Given the description of an element on the screen output the (x, y) to click on. 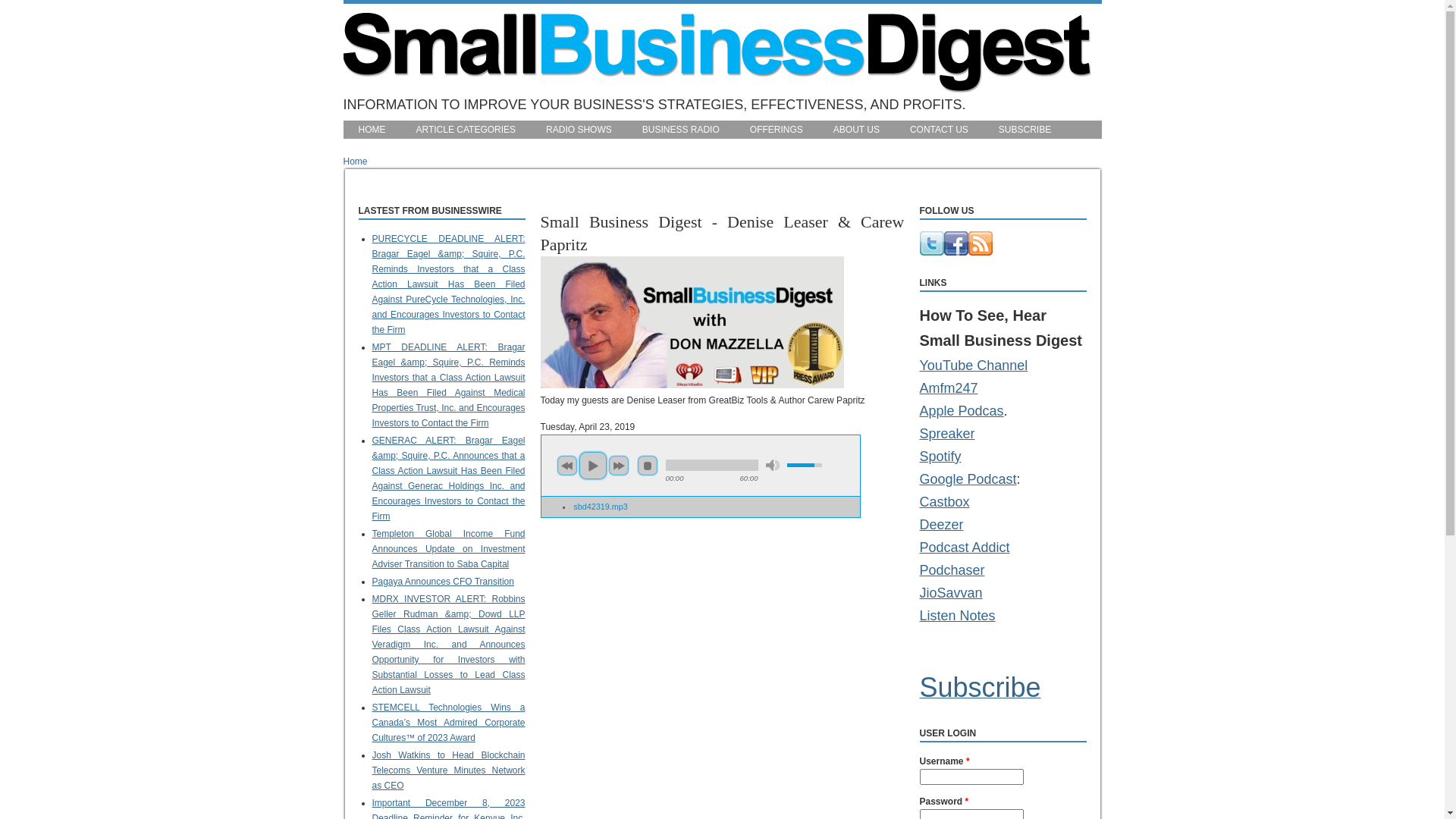
Home Element type: text (354, 161)
Pagaya Announces CFO Transition Element type: text (442, 581)
CONTACT US Element type: text (938, 129)
next Element type: text (618, 465)
Visit 2SBDigest on Twitter Element type: hover (931, 252)
Subscribe to  via RSS Element type: hover (979, 252)
Amfm247 Element type: text (948, 387)
stop Element type: text (647, 465)
Podcast Addict Element type: text (964, 558)
Subscribe Element type: text (979, 693)
Apple Podcas Element type: text (961, 422)
Home Element type: hover (716, 88)
JioSavvan Element type: text (951, 604)
HOME Element type: text (371, 129)
ARTICLE CATEGORIES Element type: text (465, 129)
Visit 2sbdigest on Facebook Element type: hover (955, 252)
mute Element type: text (772, 464)
RADIO SHOWS Element type: text (578, 129)
YouTube Channel Element type: text (973, 365)
SUBSCRIBE Element type: text (1024, 129)
BUSINESS RADIO Element type: text (680, 129)
Spotify Element type: text (948, 467)
Skip to main content Element type: text (41, 0)
Deezer Element type: text (944, 536)
previous Element type: text (566, 465)
Listen Notes Element type: text (956, 615)
Google Podcast Element type: text (967, 490)
Spreaker Element type: text (963, 445)
ABOUT US Element type: text (856, 129)
sbd42319.mp3 Element type: text (600, 506)
play Element type: text (592, 465)
Podchaser Element type: text (964, 581)
Castbox Element type: text (969, 513)
OFFERINGS Element type: text (776, 129)
